Given the description of an element on the screen output the (x, y) to click on. 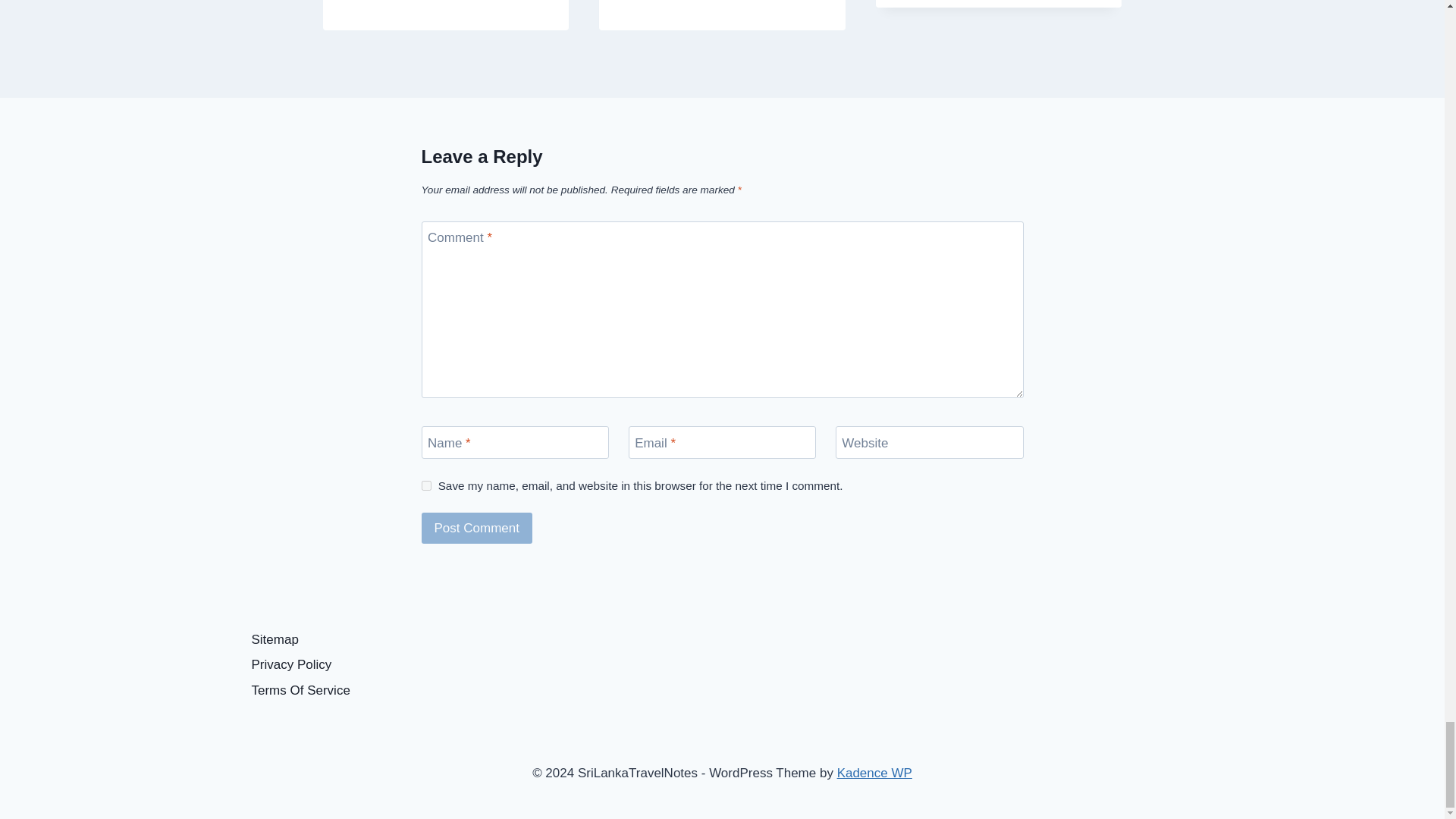
Post Comment (477, 527)
yes (426, 485)
